Given the description of an element on the screen output the (x, y) to click on. 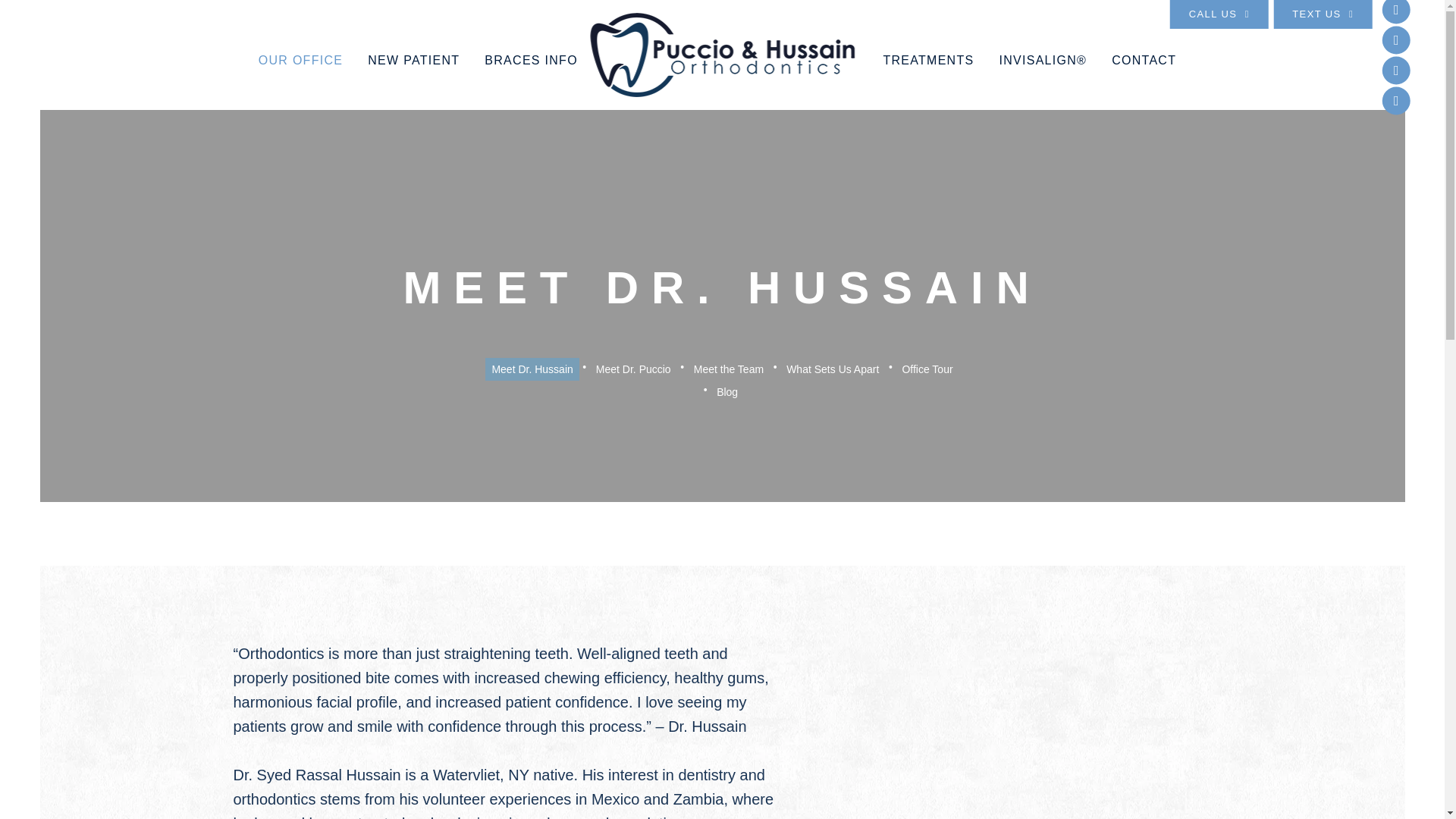
NEW PATIENT (414, 76)
CALL US (1219, 14)
OUR OFFICE (301, 76)
TEXT US (1323, 14)
TREATMENTS (928, 76)
BRACES INFO (531, 76)
